Given the description of an element on the screen output the (x, y) to click on. 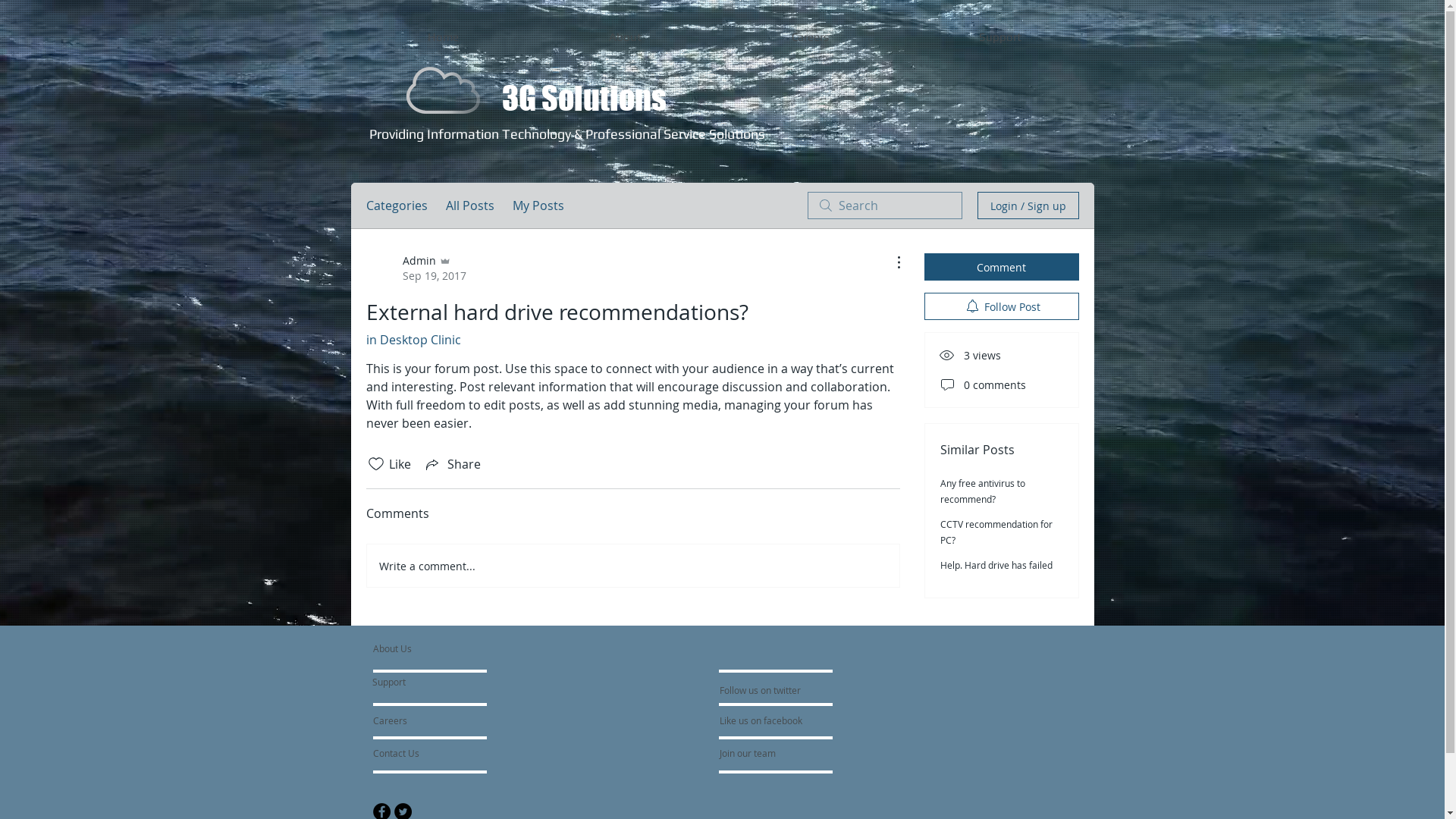
Contact Us Element type: text (427, 752)
Login / Sign up Element type: text (1027, 205)
Any free antivirus to recommend? Element type: text (982, 490)
Careers Element type: text (810, 36)
Categories Element type: text (395, 205)
Help. Hard drive has failed Element type: text (996, 564)
Share Element type: text (451, 464)
Follow us on twitter Element type: text (760, 689)
Follow Post Element type: text (1000, 306)
All Posts Element type: text (469, 205)
About Element type: text (624, 36)
Home Element type: text (443, 36)
My Posts Element type: text (538, 205)
About Us Element type: text (431, 648)
in Desktop Clinic Element type: text (412, 339)
Join our team Element type: text (759, 752)
Support Element type: text (999, 36)
CCTV recommendation for PC? Element type: text (996, 531)
Comment Element type: text (1000, 266)
Careers Element type: text (413, 720)
Write a comment... Element type: text (633, 565)
Like us on facebook Element type: text (763, 720)
Support Element type: text (407, 681)
